Given the description of an element on the screen output the (x, y) to click on. 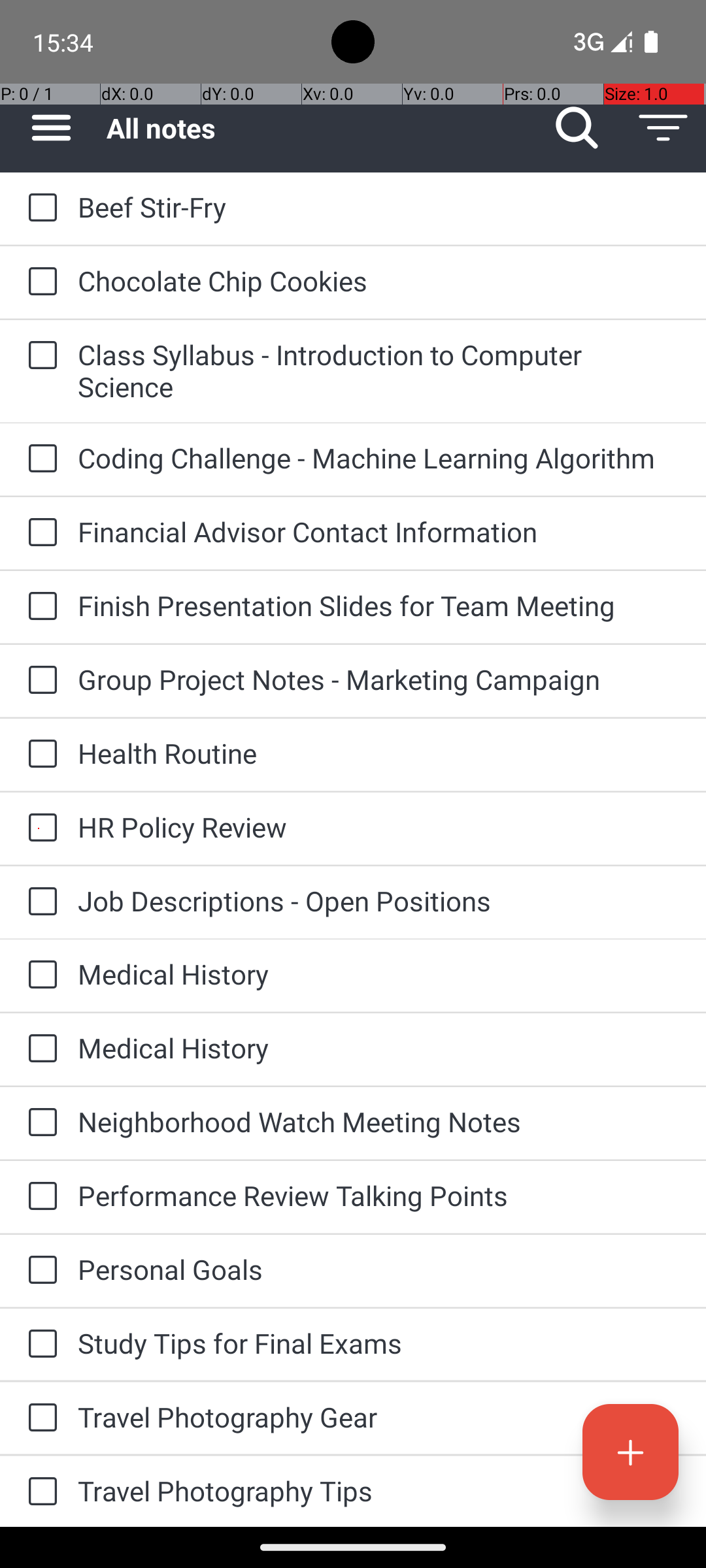
to-do: Beef Stir-Fry Element type: android.widget.CheckBox (38, 208)
Beef Stir-Fry Element type: android.widget.TextView (378, 206)
to-do: Chocolate Chip Cookies Element type: android.widget.CheckBox (38, 282)
Chocolate Chip Cookies Element type: android.widget.TextView (378, 280)
to-do: Class Syllabus - Introduction to Computer Science Element type: android.widget.CheckBox (38, 356)
Class Syllabus - Introduction to Computer Science Element type: android.widget.TextView (378, 370)
to-do: Coding Challenge - Machine Learning Algorithm Element type: android.widget.CheckBox (38, 459)
Coding Challenge - Machine Learning Algorithm Element type: android.widget.TextView (378, 457)
to-do: Finish Presentation Slides for Team Meeting Element type: android.widget.CheckBox (38, 606)
Finish Presentation Slides for Team Meeting Element type: android.widget.TextView (378, 604)
to-do: Group Project Notes - Marketing Campaign Element type: android.widget.CheckBox (38, 680)
Group Project Notes - Marketing Campaign Element type: android.widget.TextView (378, 678)
to-do: Health Routine Element type: android.widget.CheckBox (38, 754)
Health Routine Element type: android.widget.TextView (378, 752)
to-do: HR Policy Review Element type: android.widget.CheckBox (38, 828)
HR Policy Review Element type: android.widget.TextView (378, 826)
to-do: Job Descriptions - Open Positions Element type: android.widget.CheckBox (38, 902)
Job Descriptions - Open Positions Element type: android.widget.TextView (378, 900)
to-do: Medical History Element type: android.widget.CheckBox (38, 975)
Medical History Element type: android.widget.TextView (378, 973)
to-do: Neighborhood Watch Meeting Notes Element type: android.widget.CheckBox (38, 1123)
Neighborhood Watch Meeting Notes Element type: android.widget.TextView (378, 1121)
to-do: Performance Review Talking Points Element type: android.widget.CheckBox (38, 1196)
Performance Review Talking Points Element type: android.widget.TextView (378, 1194)
to-do: Personal Goals Element type: android.widget.CheckBox (38, 1270)
Personal Goals Element type: android.widget.TextView (378, 1268)
to-do: Study Tips for Final Exams Element type: android.widget.CheckBox (38, 1344)
Study Tips for Final Exams Element type: android.widget.TextView (378, 1342)
to-do: Travel Photography Gear Element type: android.widget.CheckBox (38, 1418)
Travel Photography Gear Element type: android.widget.TextView (378, 1416)
to-do: Travel Photography Tips Element type: android.widget.CheckBox (38, 1491)
Travel Photography Tips Element type: android.widget.TextView (378, 1490)
